Given the description of an element on the screen output the (x, y) to click on. 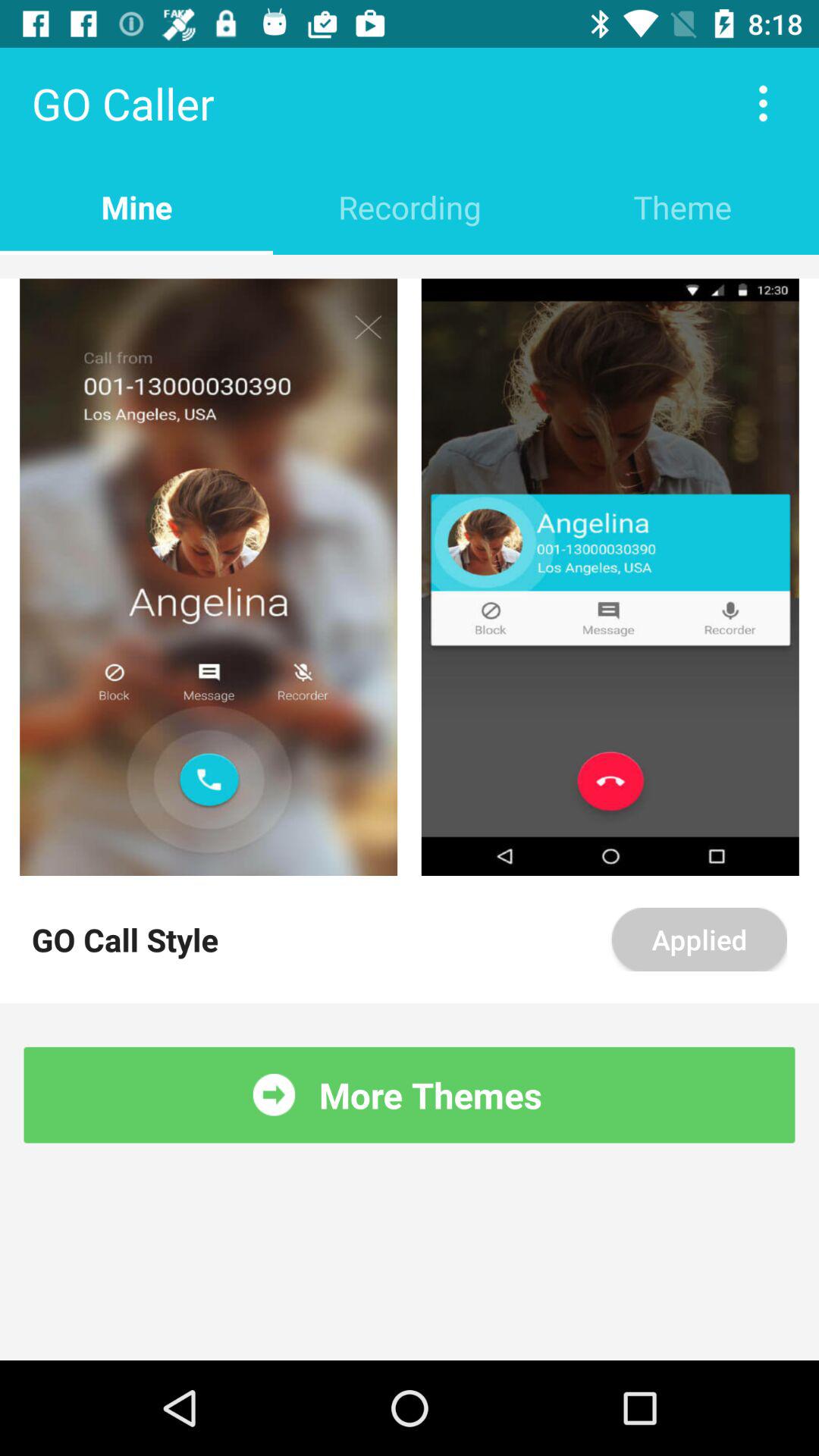
tap item below go caller (409, 206)
